Given the description of an element on the screen output the (x, y) to click on. 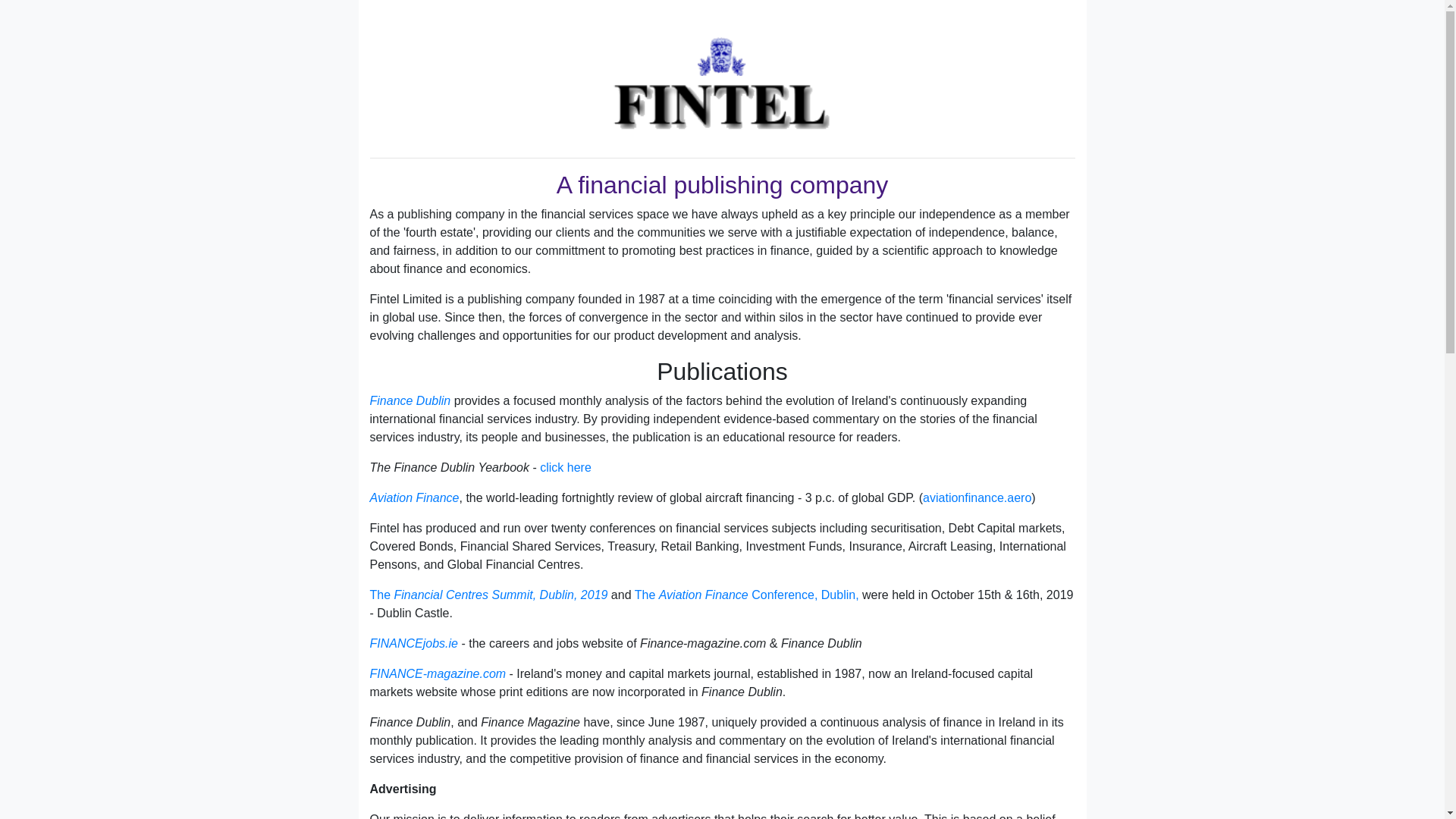
Aviation Finance (414, 497)
aviationfinance.aero (976, 497)
The Aviation Finance Conference, Dublin, (746, 594)
click here (565, 467)
Finance Dublin (411, 400)
FINANCEjobs.ie (413, 643)
The Financial Centres Summit, Dublin, 2019 (488, 594)
FINANCE-magazine.com (437, 673)
